Given the description of an element on the screen output the (x, y) to click on. 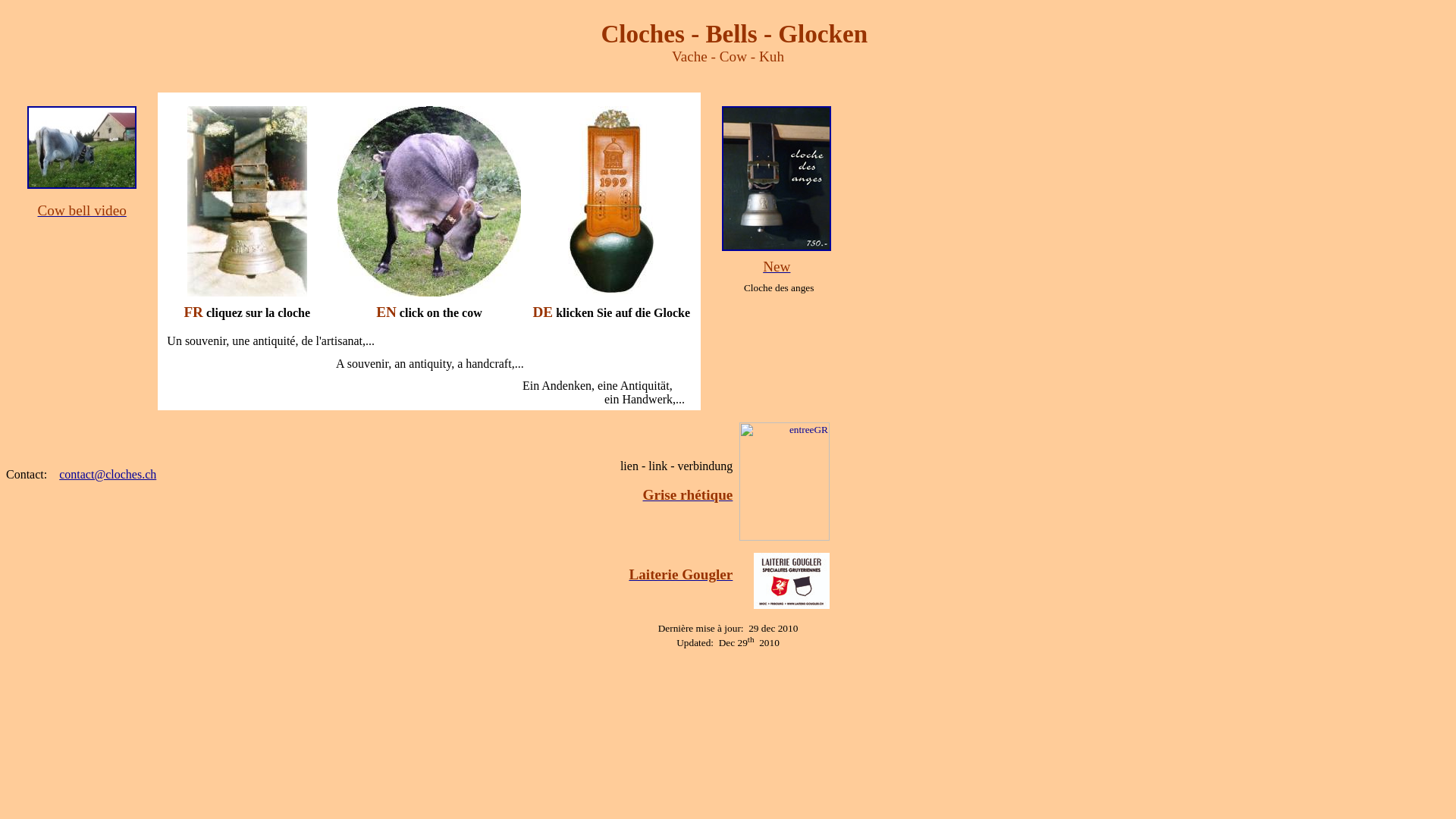
Laiterie Gougler Element type: text (680, 574)
contact@cloches.ch Element type: text (107, 473)
New Element type: text (776, 266)
Cow bell video Element type: text (81, 210)
